Given the description of an element on the screen output the (x, y) to click on. 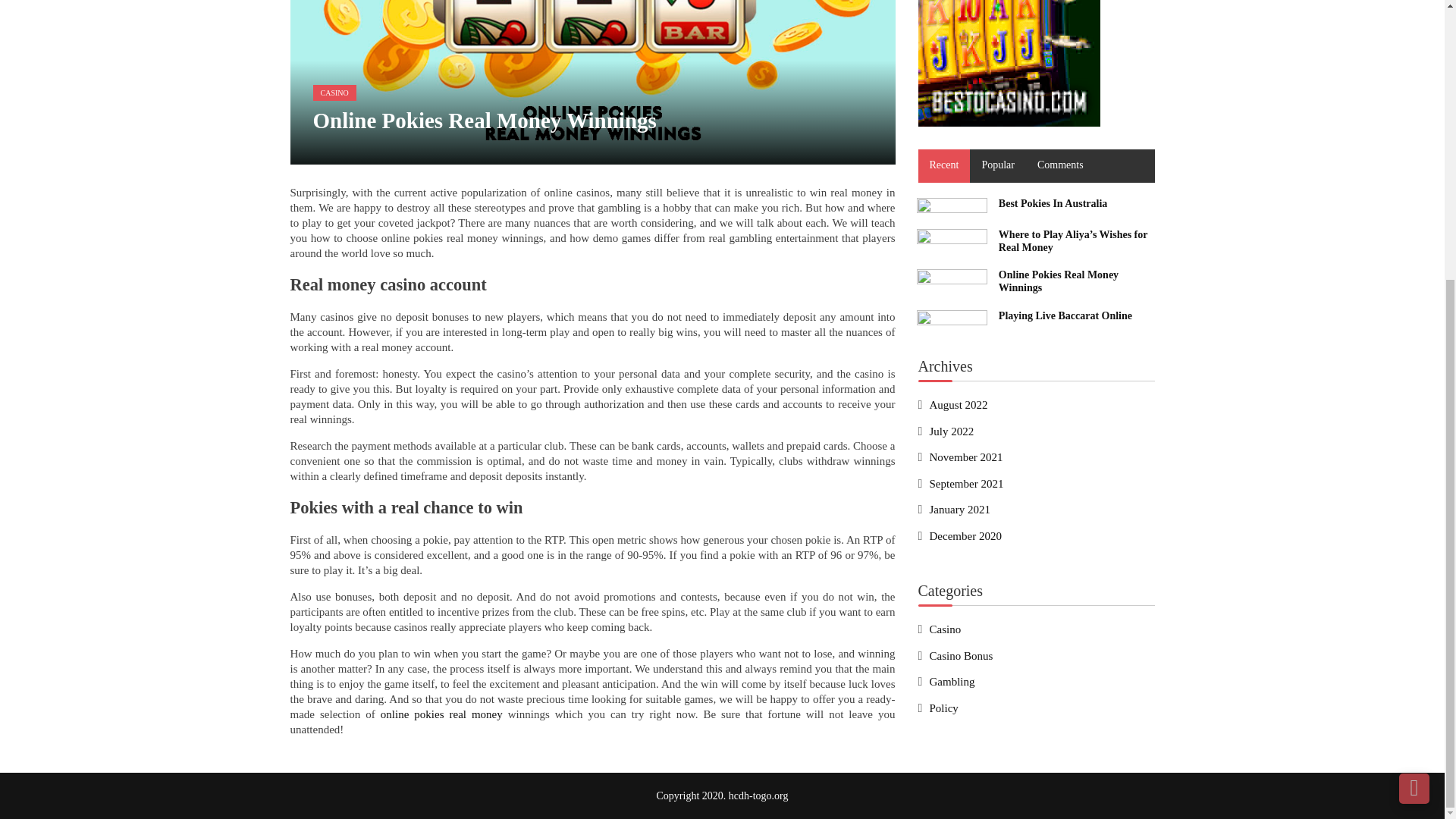
Online Pokies Real Money Winnings (1058, 281)
Playing Live Baccarat Online (951, 320)
Online Pokies Real Money Winnings (951, 279)
CASINO (333, 92)
online pokies real money (441, 714)
Comments (1060, 165)
Recent (943, 165)
Best Pokies In Australia (951, 207)
Best Pokies In Australia (1053, 203)
Popular (997, 165)
